Given the description of an element on the screen output the (x, y) to click on. 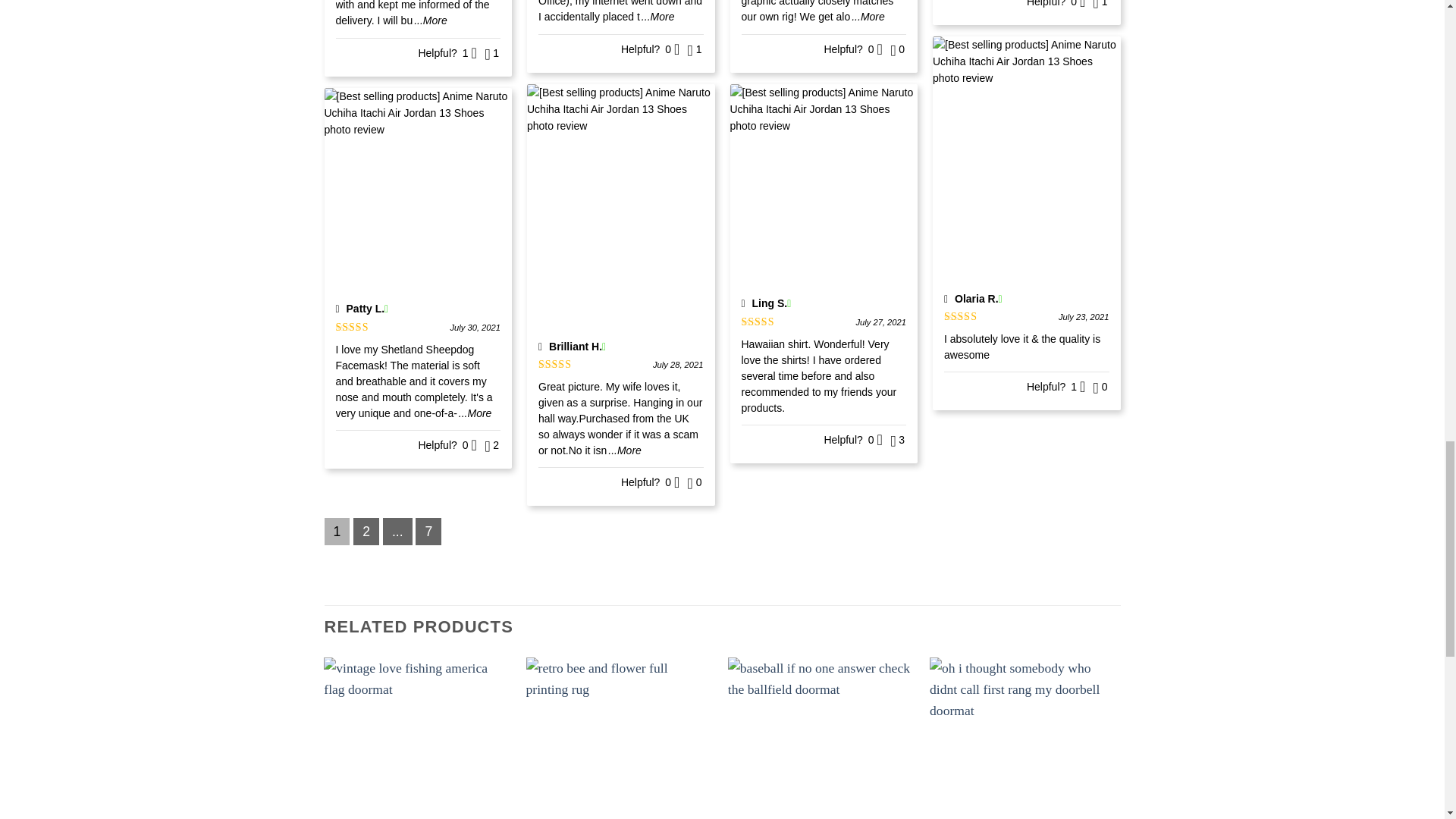
Read more (658, 16)
Read more (475, 413)
Click to view full screen (418, 192)
Read more (430, 20)
